Given the description of an element on the screen output the (x, y) to click on. 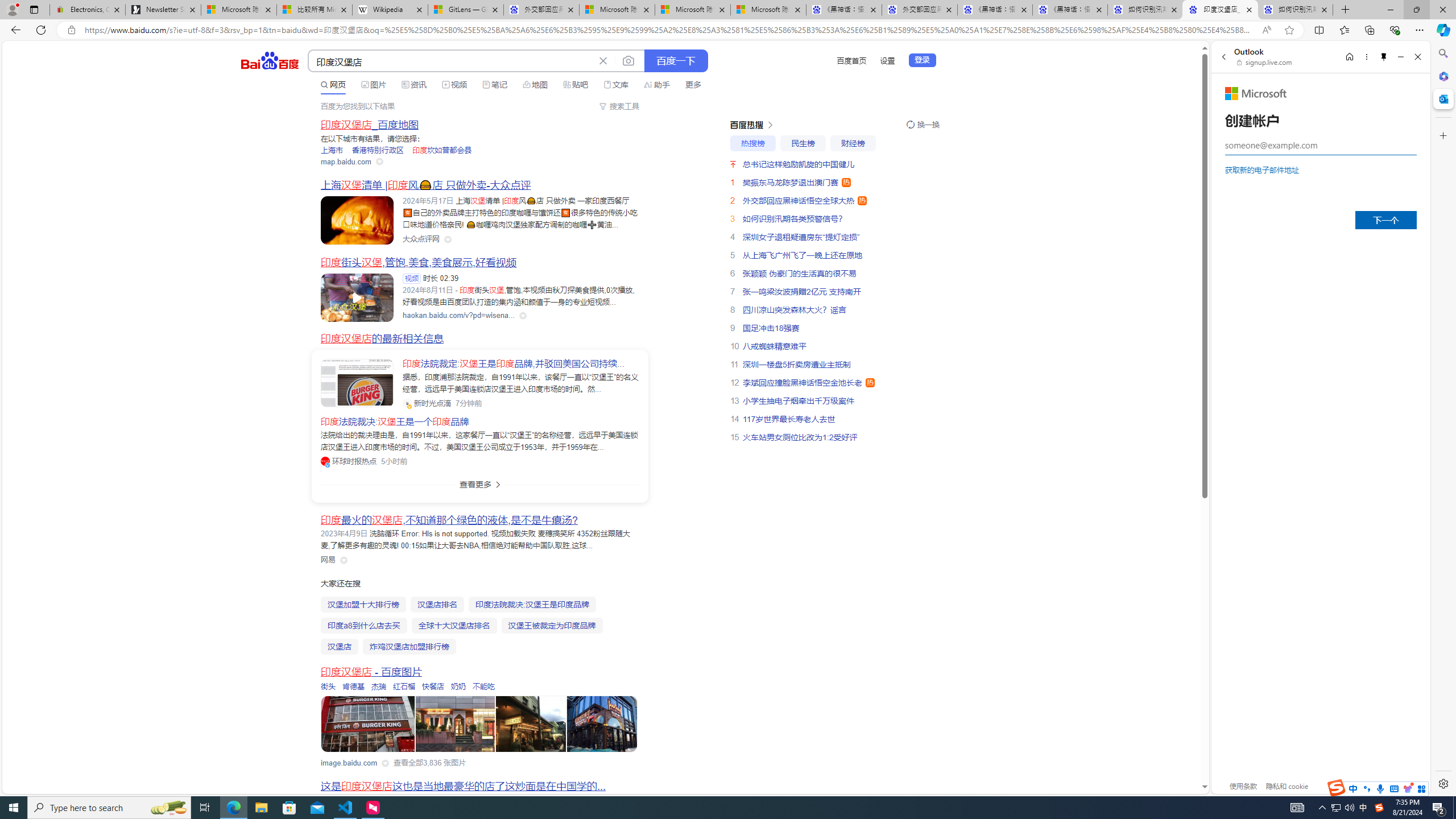
signup.live.com (1264, 61)
